Given the description of an element on the screen output the (x, y) to click on. 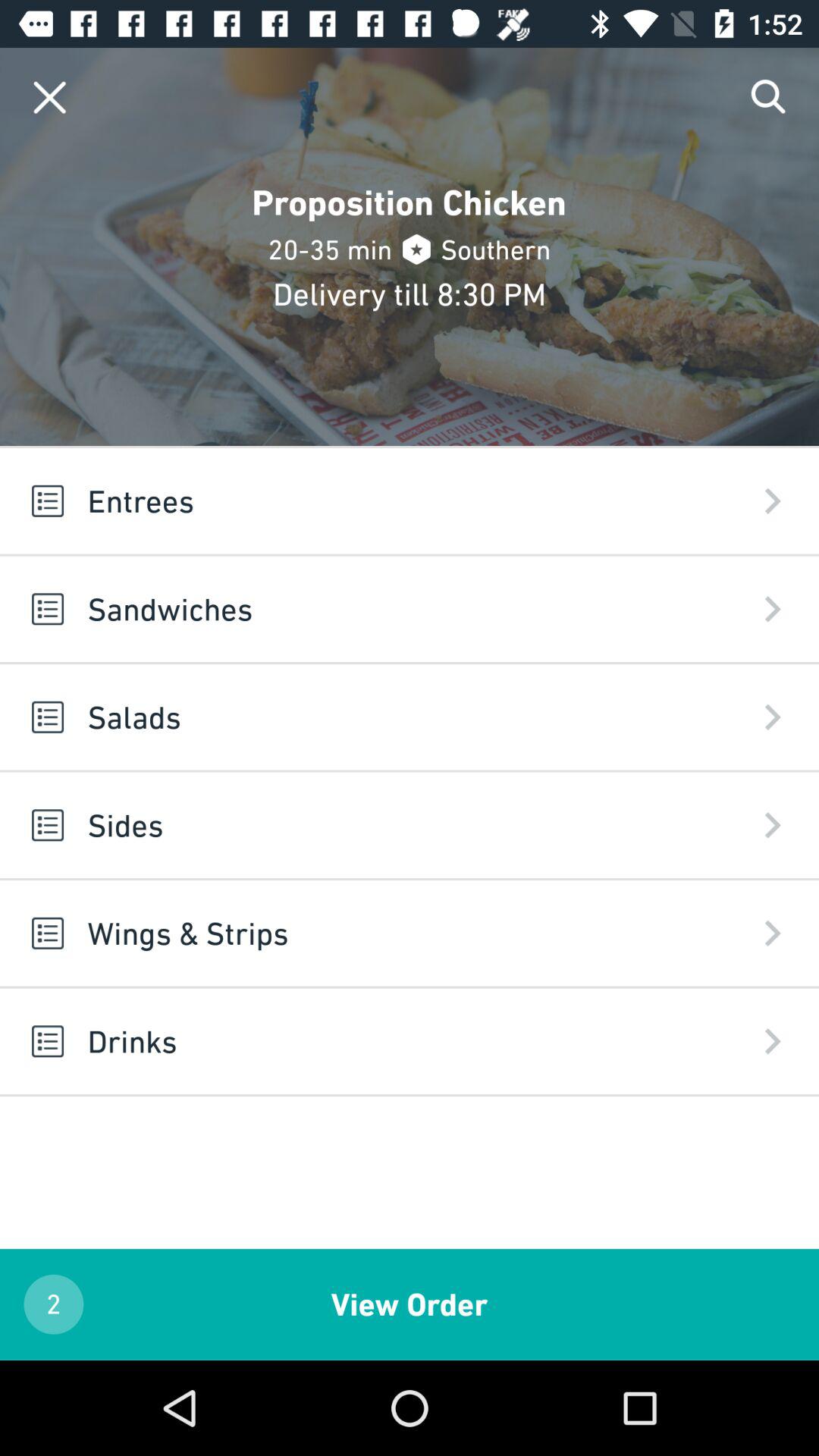
click the item at the top right corner (769, 97)
